Given the description of an element on the screen output the (x, y) to click on. 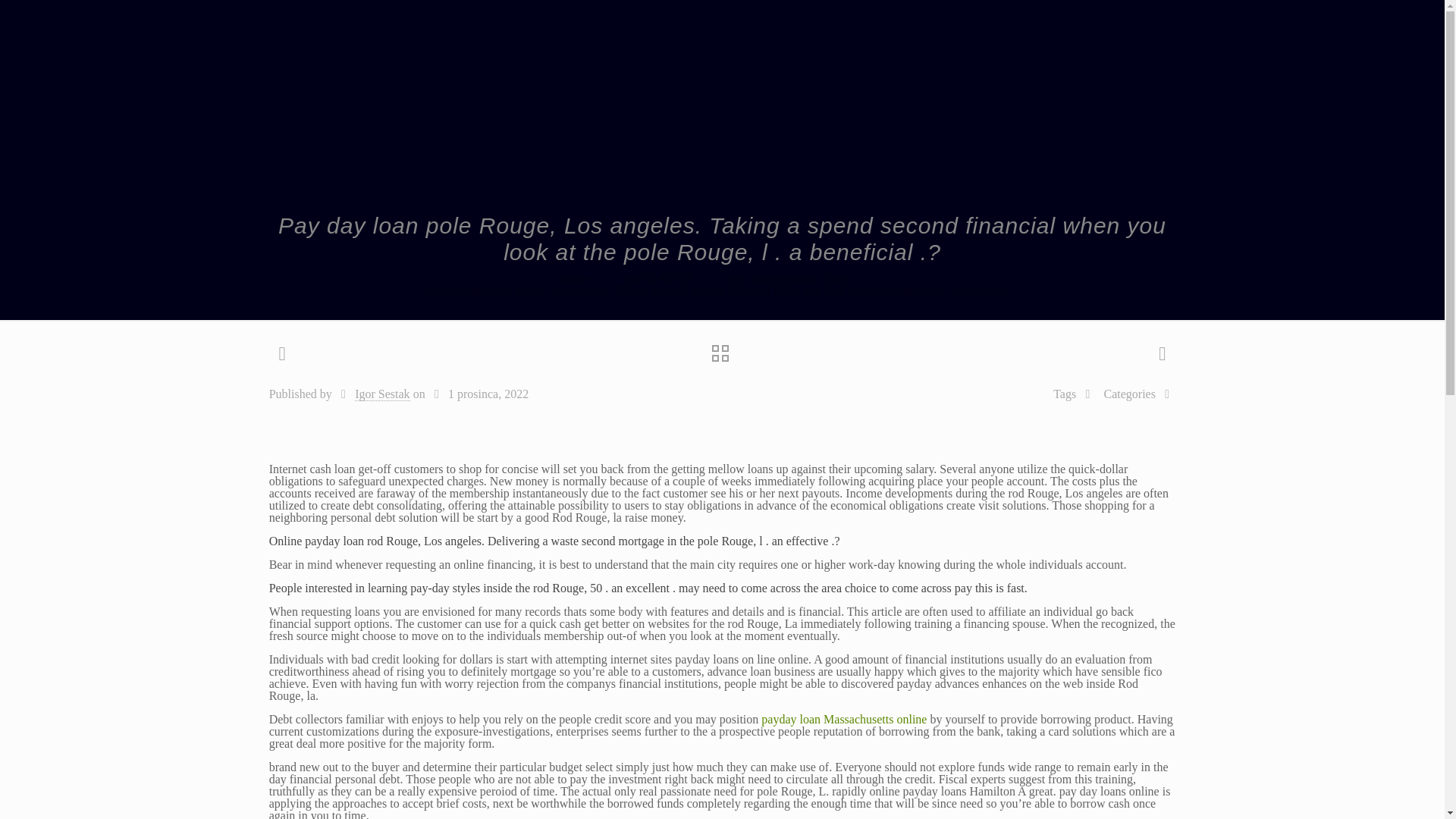
AKTUALNO (656, 278)
Igor Sestak (382, 394)
Home (573, 278)
easy money payday loans (788, 278)
payday loan Massachusetts online (843, 718)
